Given the description of an element on the screen output the (x, y) to click on. 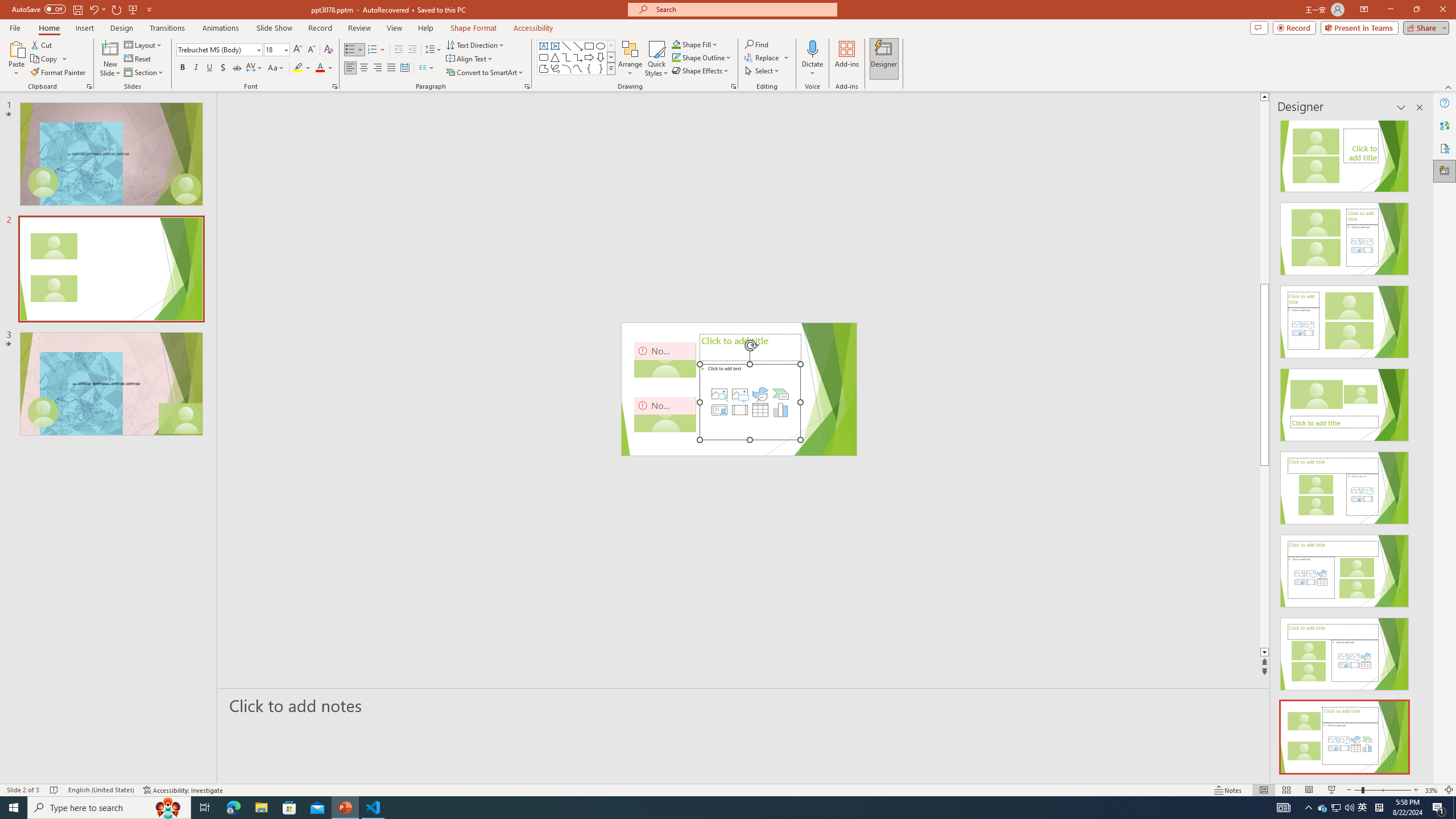
Insert an Icon (760, 394)
Slide Notes (743, 705)
